Given the description of an element on the screen output the (x, y) to click on. 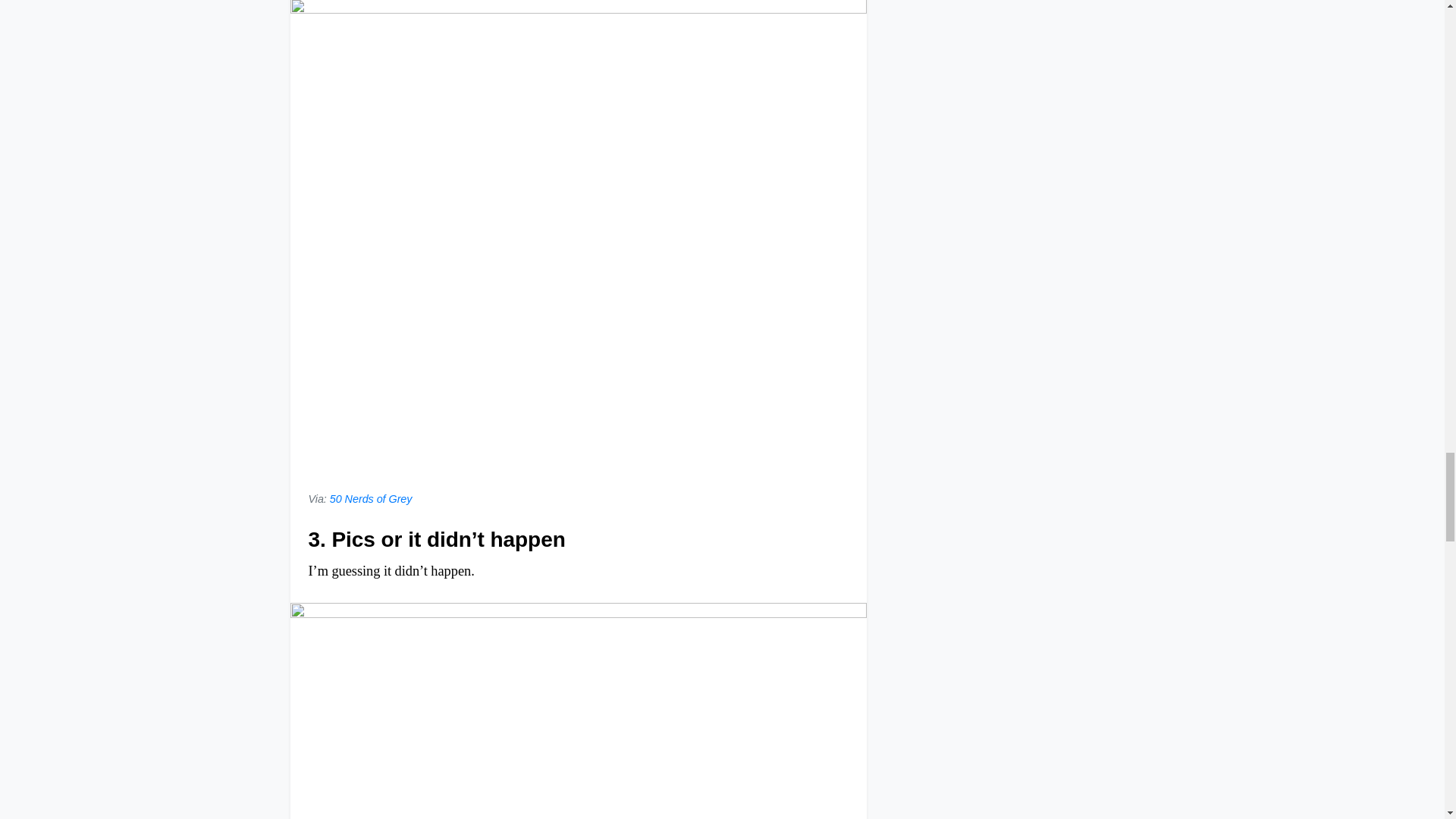
50 Nerds of Grey (371, 499)
